Given the description of an element on the screen output the (x, y) to click on. 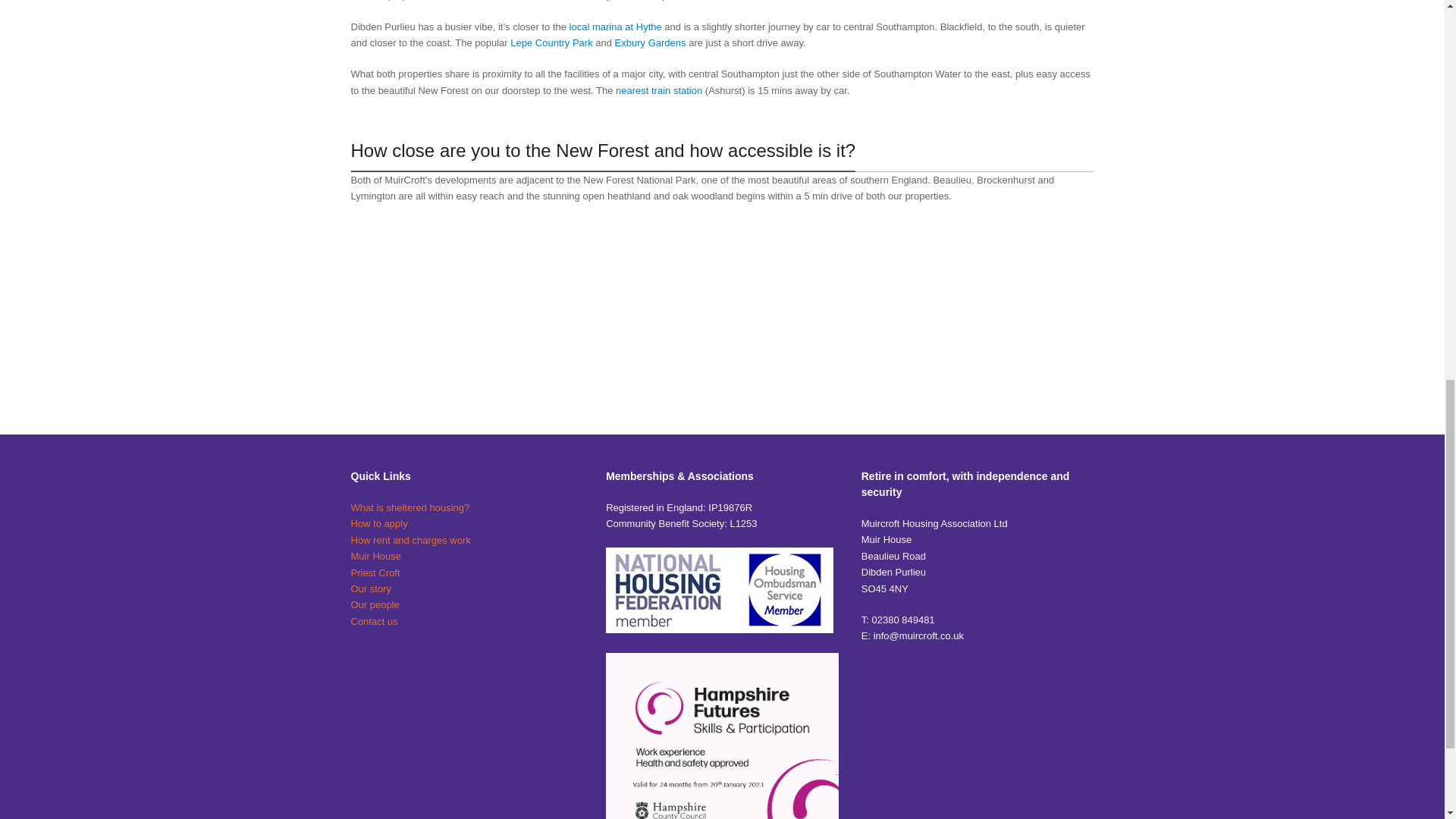
What is sheltered housing? (409, 507)
How rent and charges work (410, 540)
nearest train station (658, 90)
Lepe Country Park (551, 42)
local marina at Hythe (615, 26)
Muir House (375, 555)
Priest Croft (374, 572)
Contact us (373, 621)
Exbury Gardens (649, 42)
How to apply (378, 523)
